Given the description of an element on the screen output the (x, y) to click on. 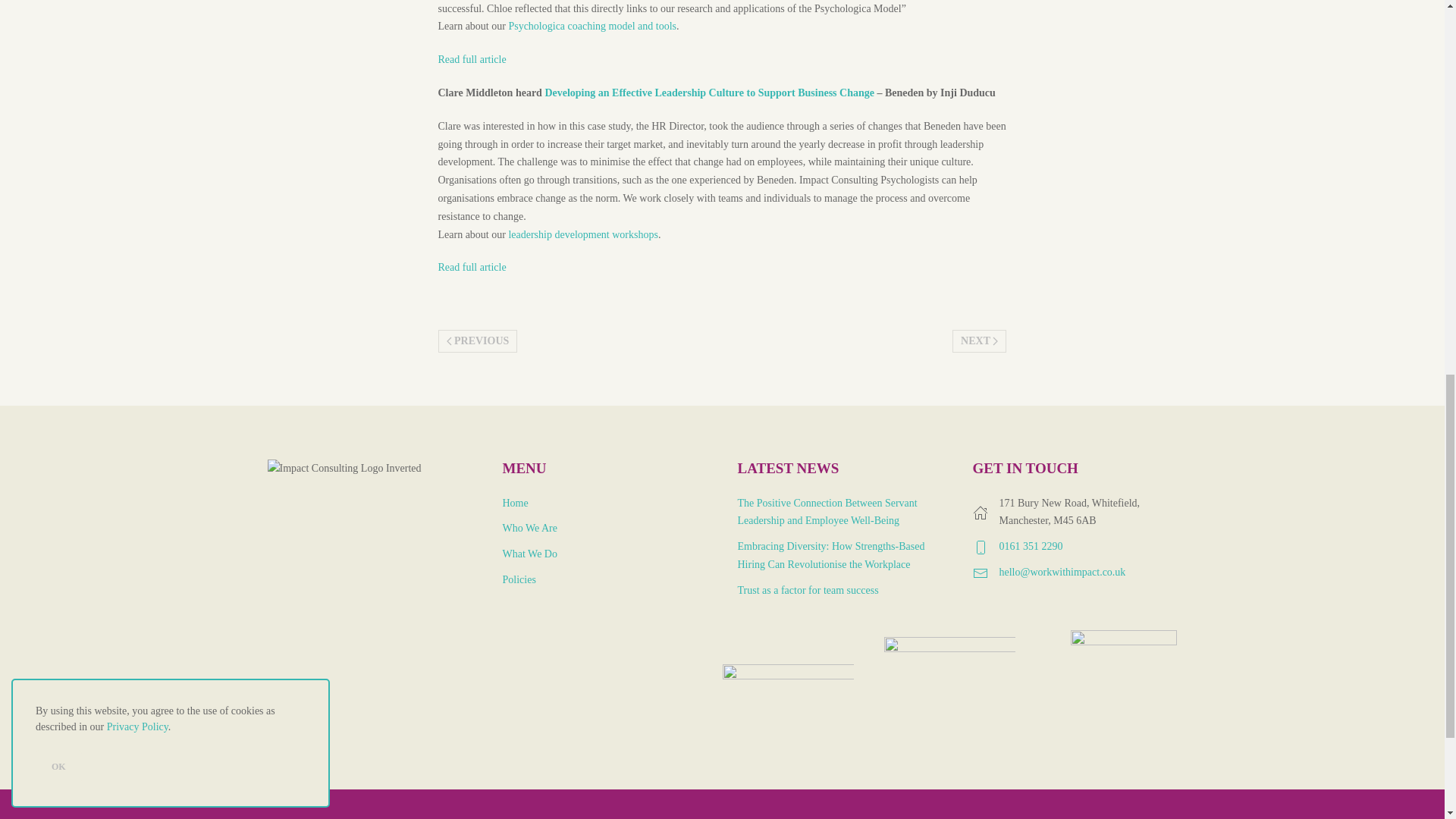
Leadership development workshops (583, 234)
Psychologica coaching model and tools (592, 25)
E3 (710, 92)
